Given the description of an element on the screen output the (x, y) to click on. 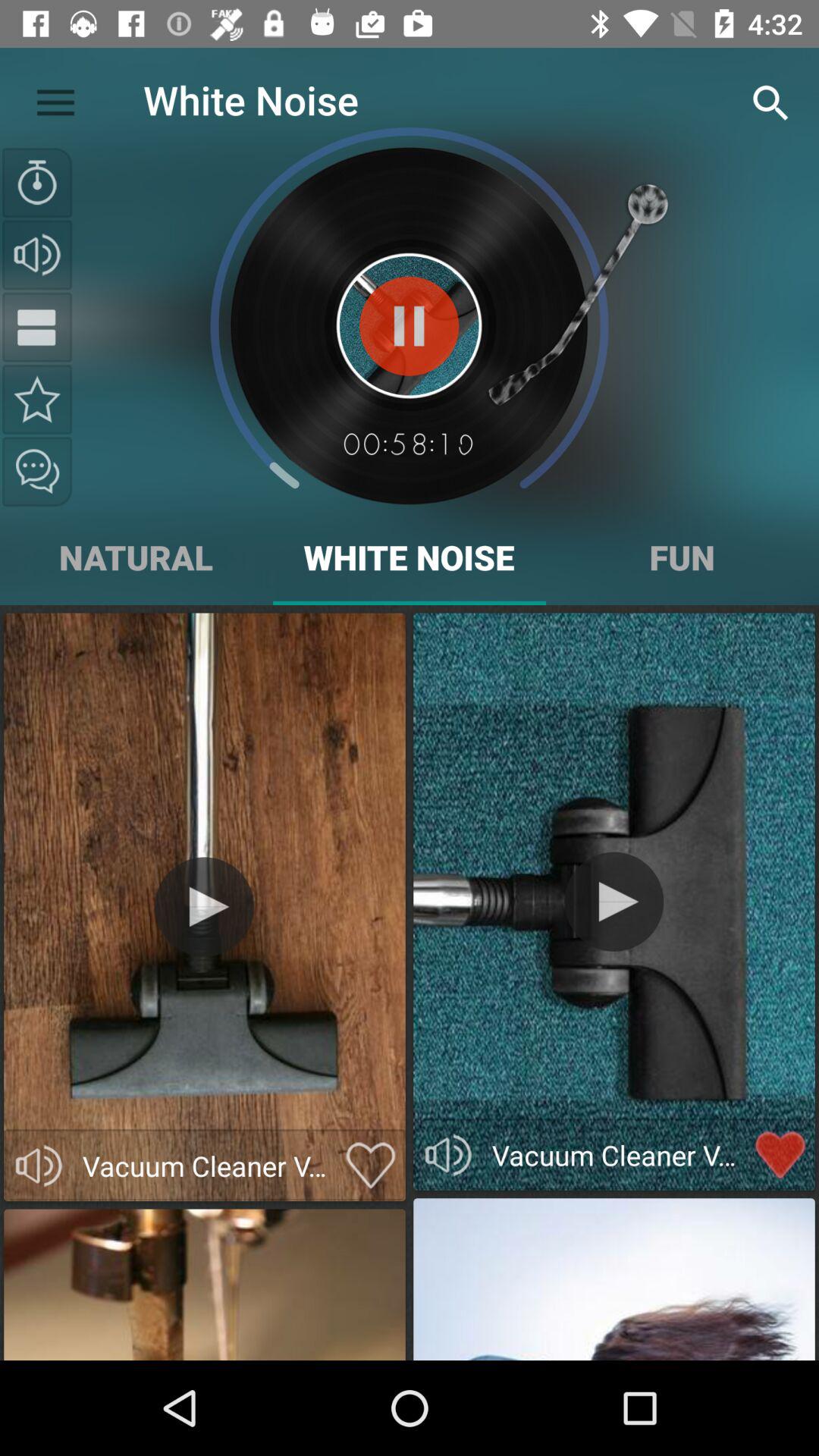
save to favorites (37, 399)
